Given the description of an element on the screen output the (x, y) to click on. 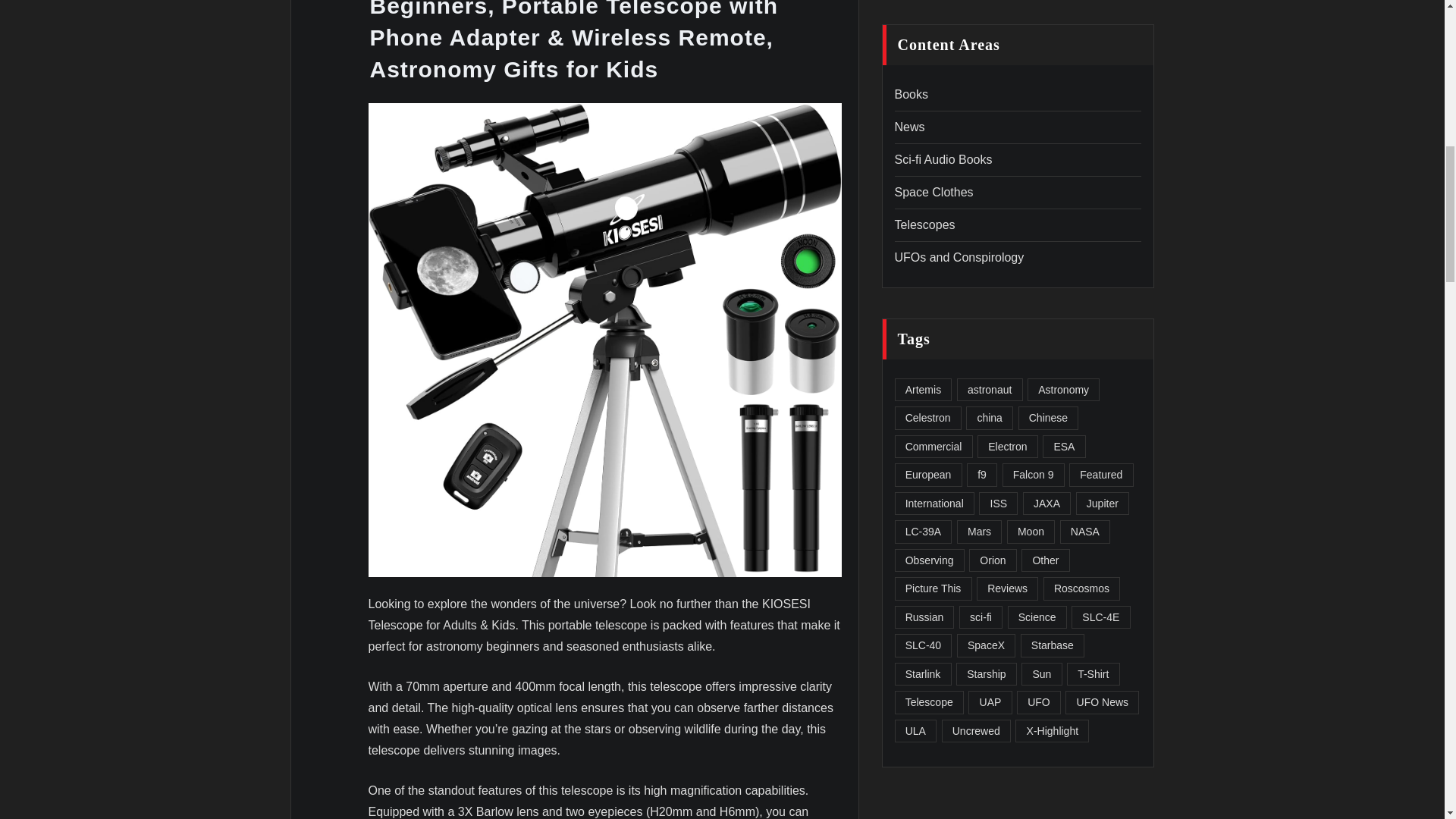
Telescopes (925, 224)
ESA (1063, 446)
Astronomy (1063, 390)
astronaut (989, 390)
European (928, 474)
Space Clothes (934, 192)
News (909, 126)
f9 (981, 474)
Celestron (927, 417)
Sci-fi Audio Books (943, 159)
